Given the description of an element on the screen output the (x, y) to click on. 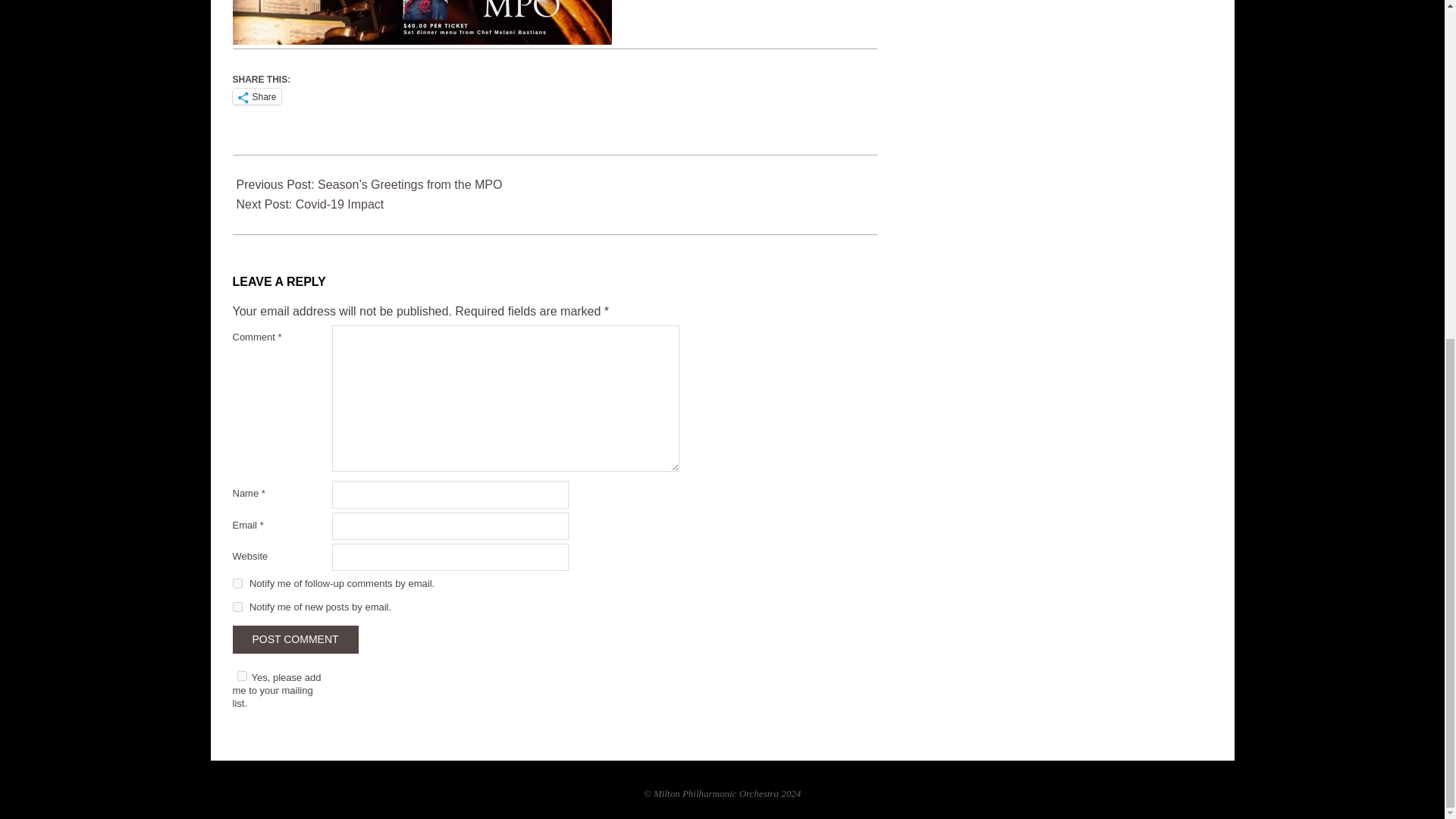
subscribe (236, 606)
1 (240, 675)
Post Comment (294, 639)
subscribe (236, 583)
Share (256, 96)
